Given the description of an element on the screen output the (x, y) to click on. 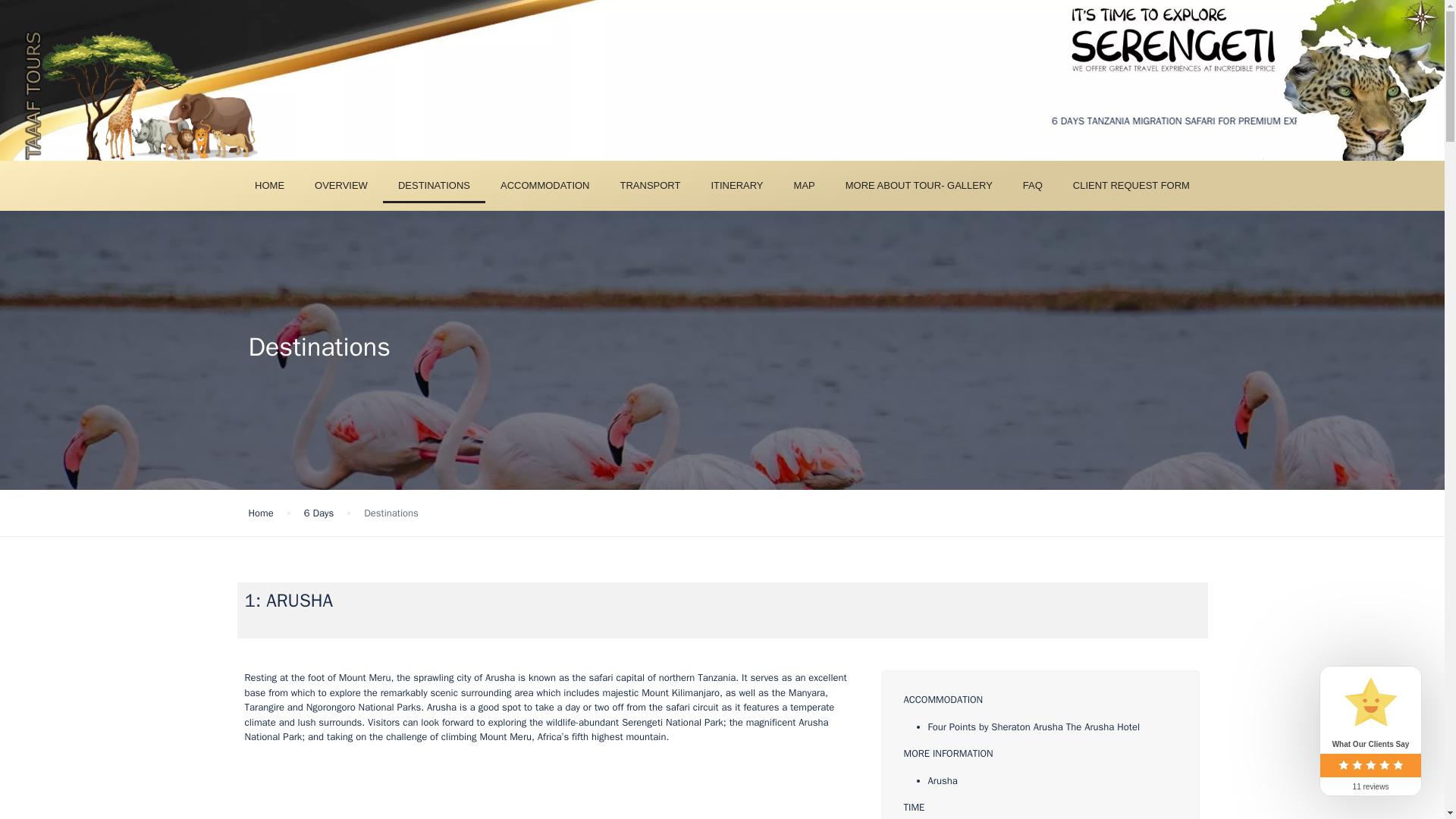
ACCOMMODATION (544, 185)
MAP (803, 185)
HOME (269, 185)
ITINERARY (736, 185)
MORE ABOUT TOUR- GALLERY (918, 185)
DESTINATIONS (433, 185)
TRANSPORT (650, 185)
OVERVIEW (340, 185)
FAQ (1032, 185)
CLIENT REQUEST FORM (1131, 185)
